Given the description of an element on the screen output the (x, y) to click on. 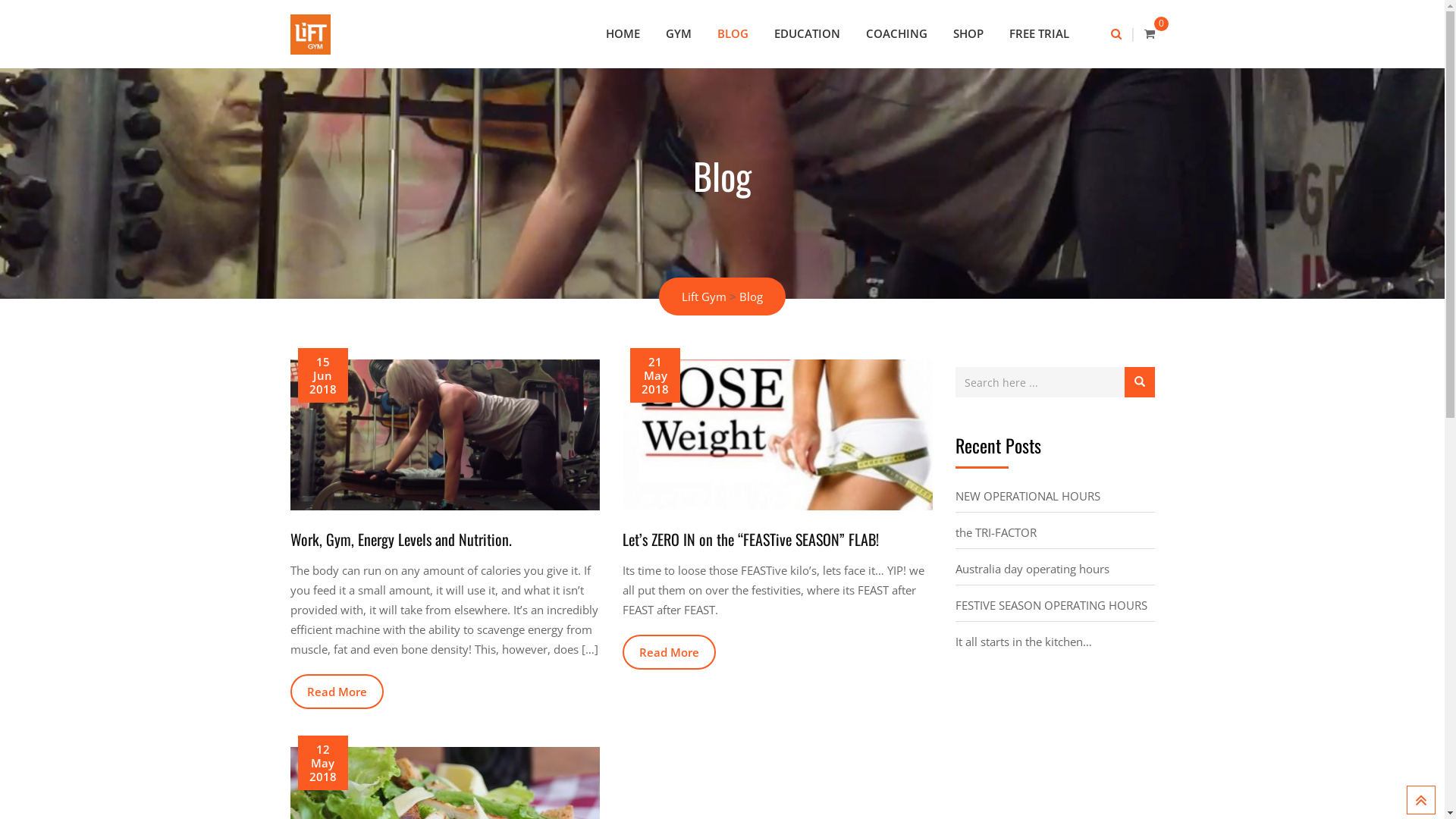
HOME Element type: text (622, 33)
0 Element type: text (1148, 33)
SHOP Element type: text (967, 33)
GYM Element type: text (678, 33)
FESTIVE SEASON OPERATING HOURS Element type: text (1051, 605)
FREE TRIAL Element type: text (1038, 33)
Read More Element type: text (335, 691)
BLOG Element type: text (732, 33)
Australia day operating hours Element type: text (1032, 568)
the TRI-FACTOR Element type: text (995, 532)
EDUCATION Element type: text (806, 33)
COACHING Element type: text (896, 33)
Read More Element type: text (668, 651)
Work, Gym, Energy Levels and Nutrition. Element type: text (400, 538)
NEW OPERATIONAL HOURS Element type: text (1027, 495)
Lift Gym Element type: text (703, 296)
